Given the description of an element on the screen output the (x, y) to click on. 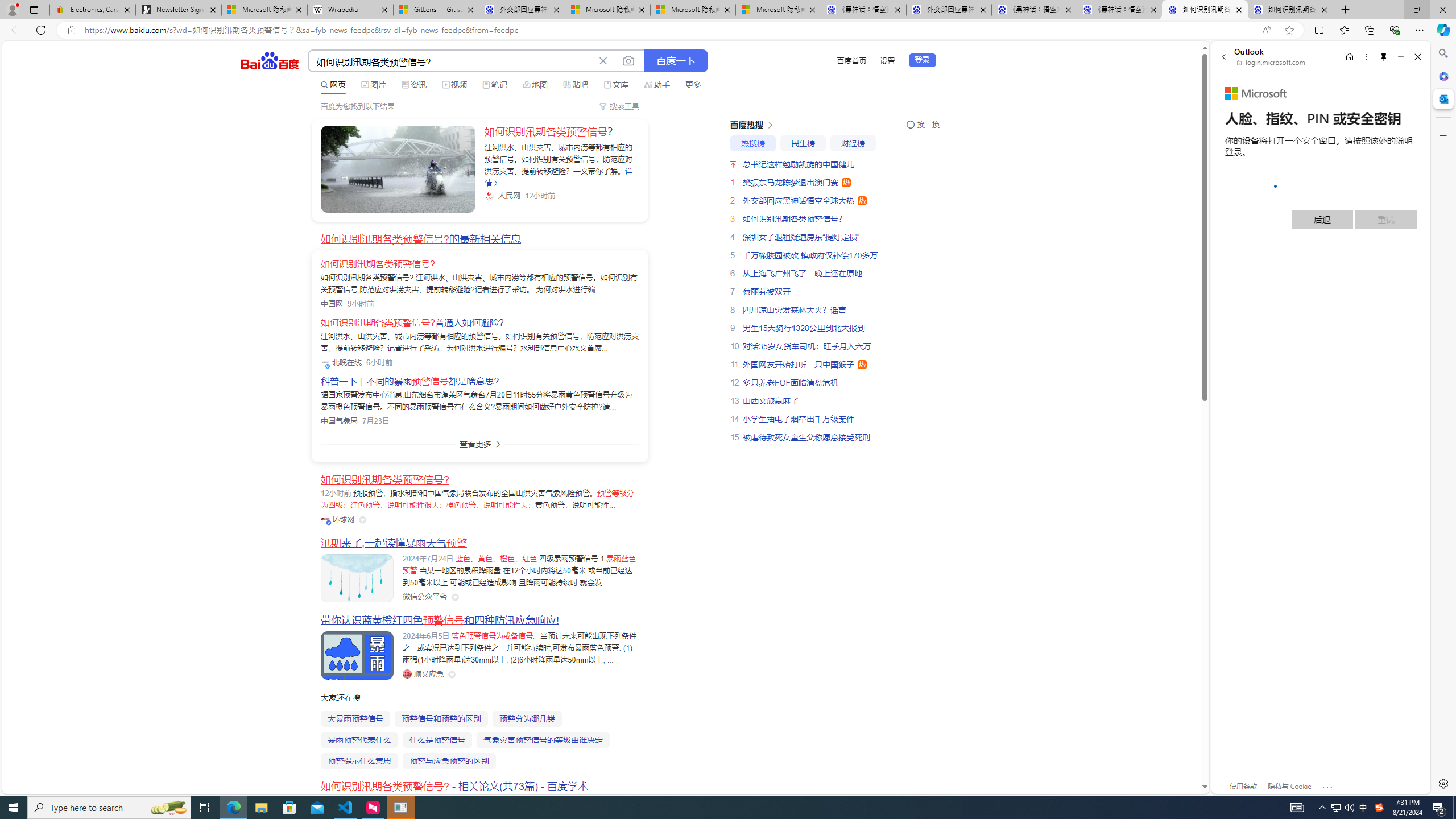
login.microsoft.com (1271, 61)
